Given the description of an element on the screen output the (x, y) to click on. 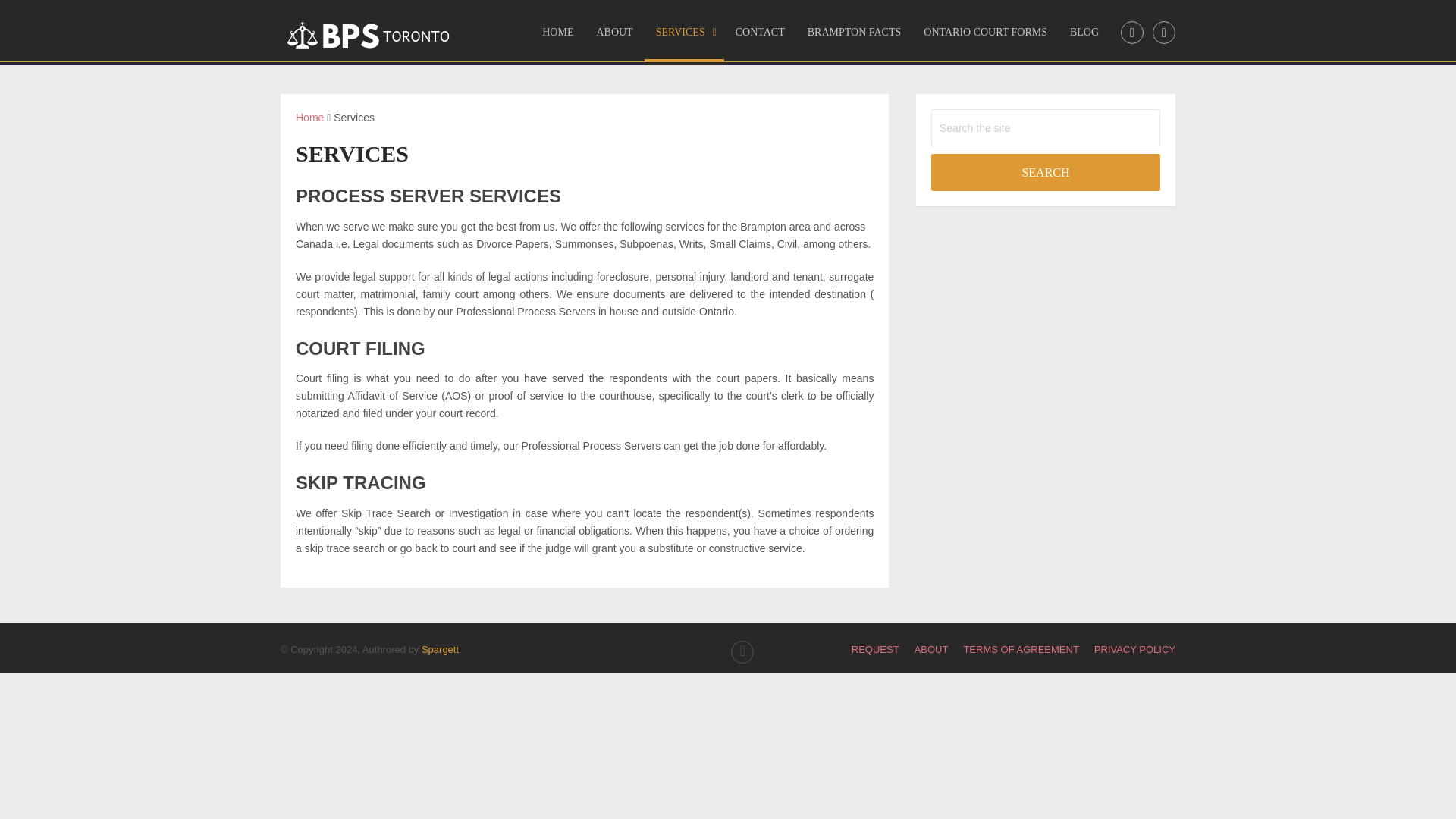
Home (309, 117)
Search (1045, 171)
ABOUT (931, 649)
ONTARIO COURT FORMS (985, 37)
Search (1045, 171)
ABOUT (614, 37)
HOME (558, 37)
PRIVACY POLICY (1134, 649)
REQUEST (875, 649)
BRAMPTON FACTS (854, 37)
